Given the description of an element on the screen output the (x, y) to click on. 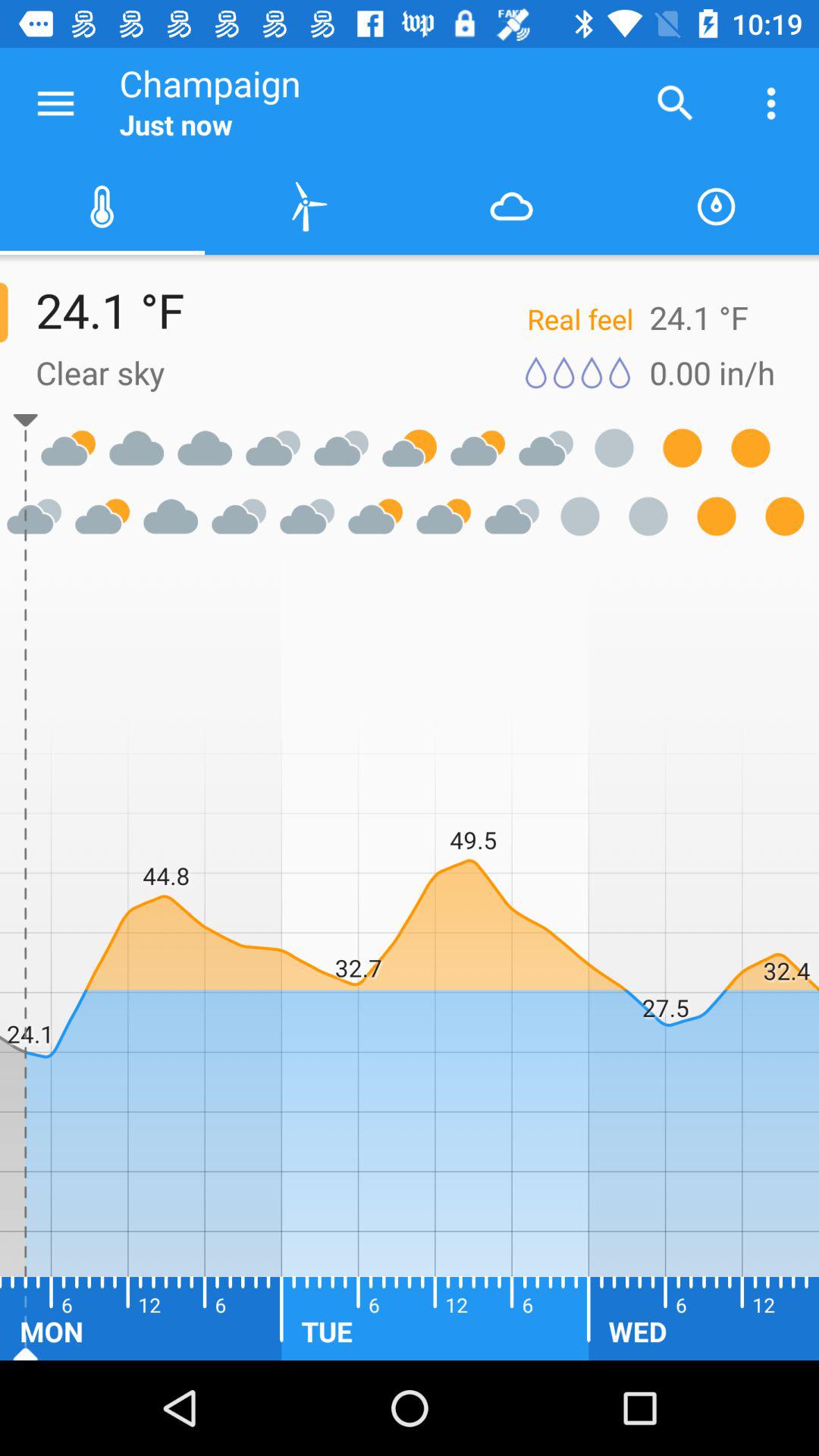
select the item next to the champaign (675, 103)
